Given the description of an element on the screen output the (x, y) to click on. 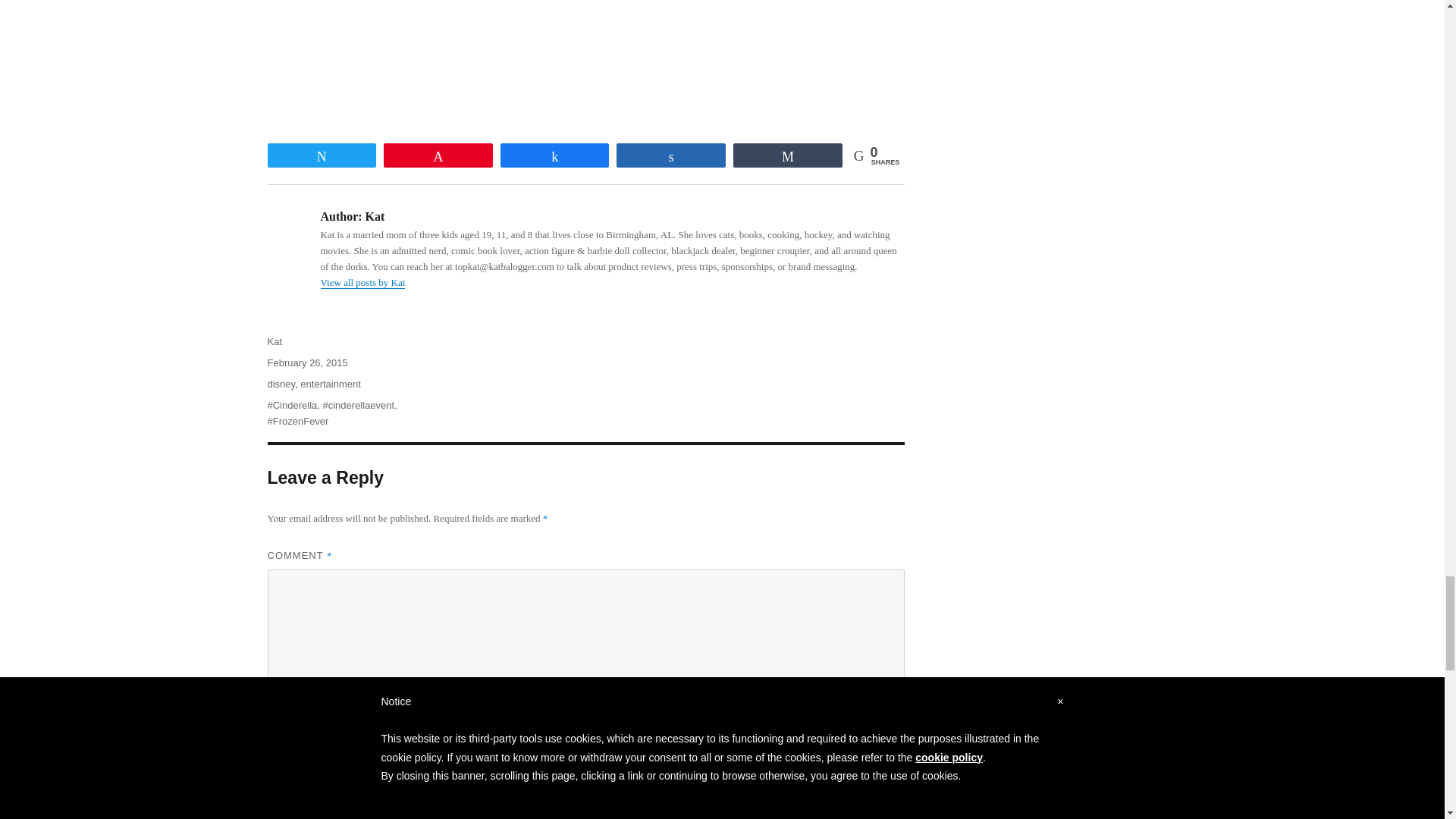
disney (280, 383)
Kat (274, 341)
February 26, 2015 (306, 362)
View all posts by Kat (362, 282)
entertainment (330, 383)
